Given the description of an element on the screen output the (x, y) to click on. 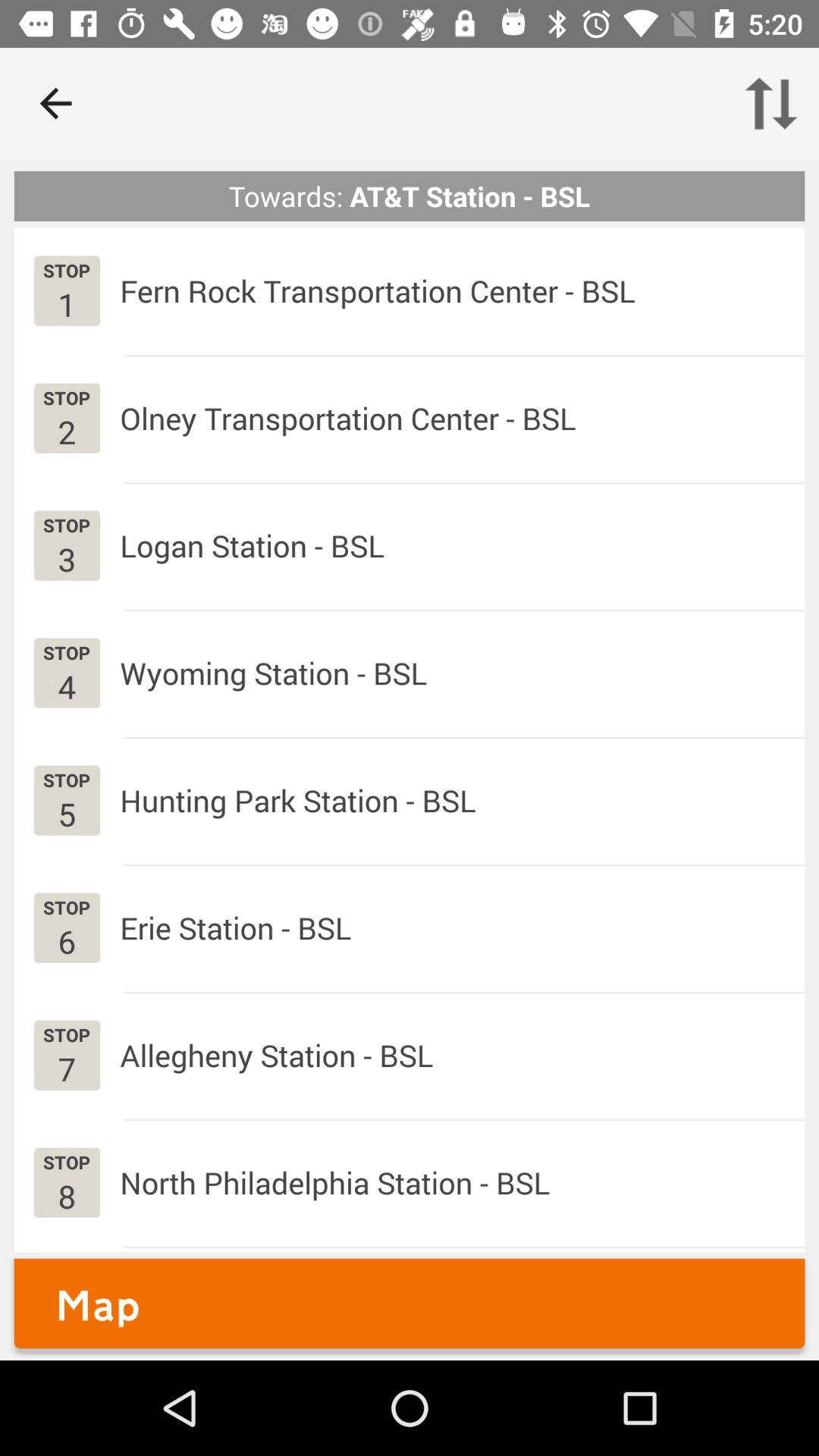
tap the fern rock transportation icon (377, 290)
